Given the description of an element on the screen output the (x, y) to click on. 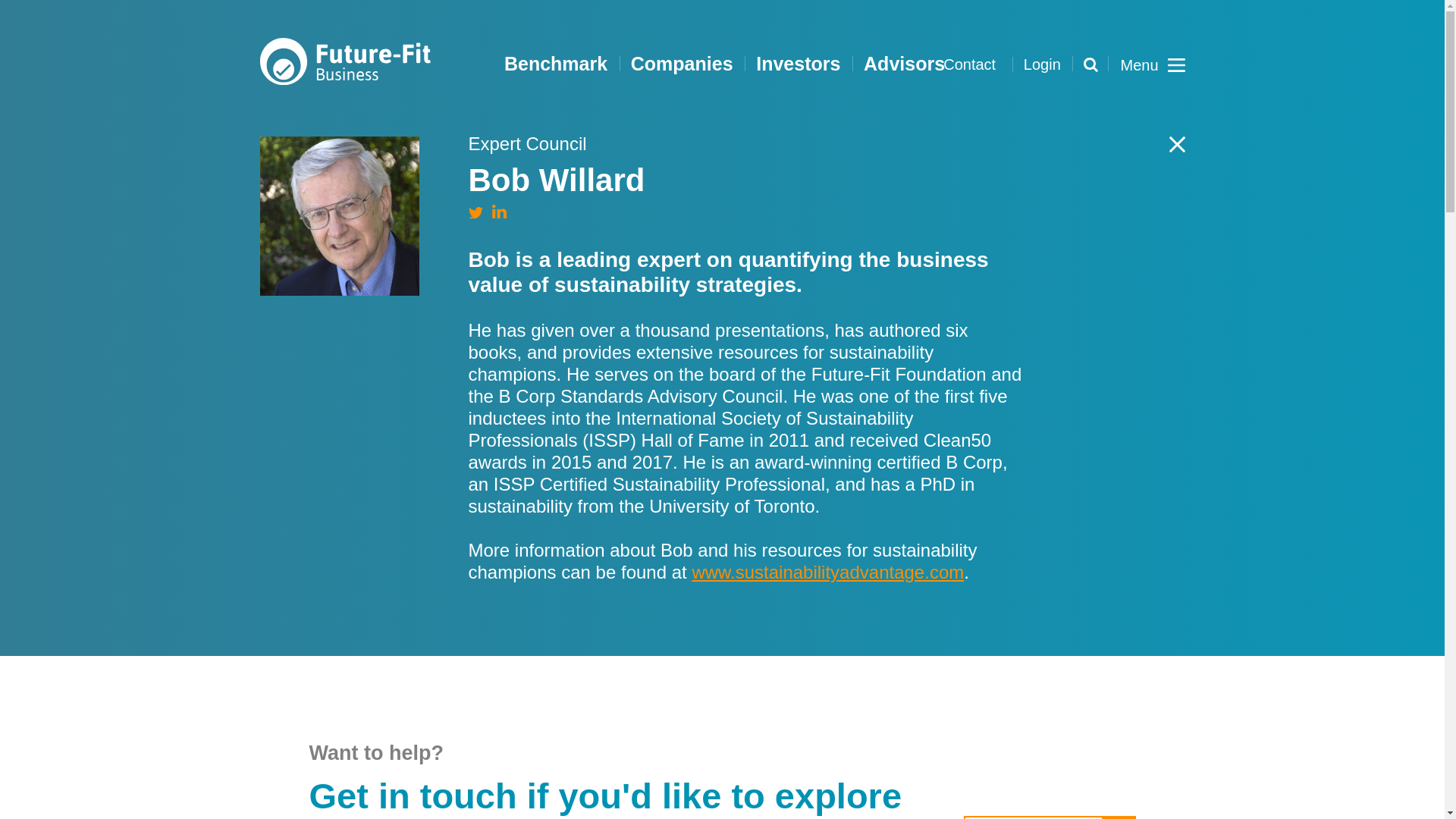
Get in touch (1049, 817)
Contact (969, 64)
Benchmark (555, 63)
Advisors (904, 63)
Login (1042, 64)
Companies (682, 63)
Investors (798, 63)
www.sustainabilityadvantage.com (827, 571)
